Given the description of an element on the screen output the (x, y) to click on. 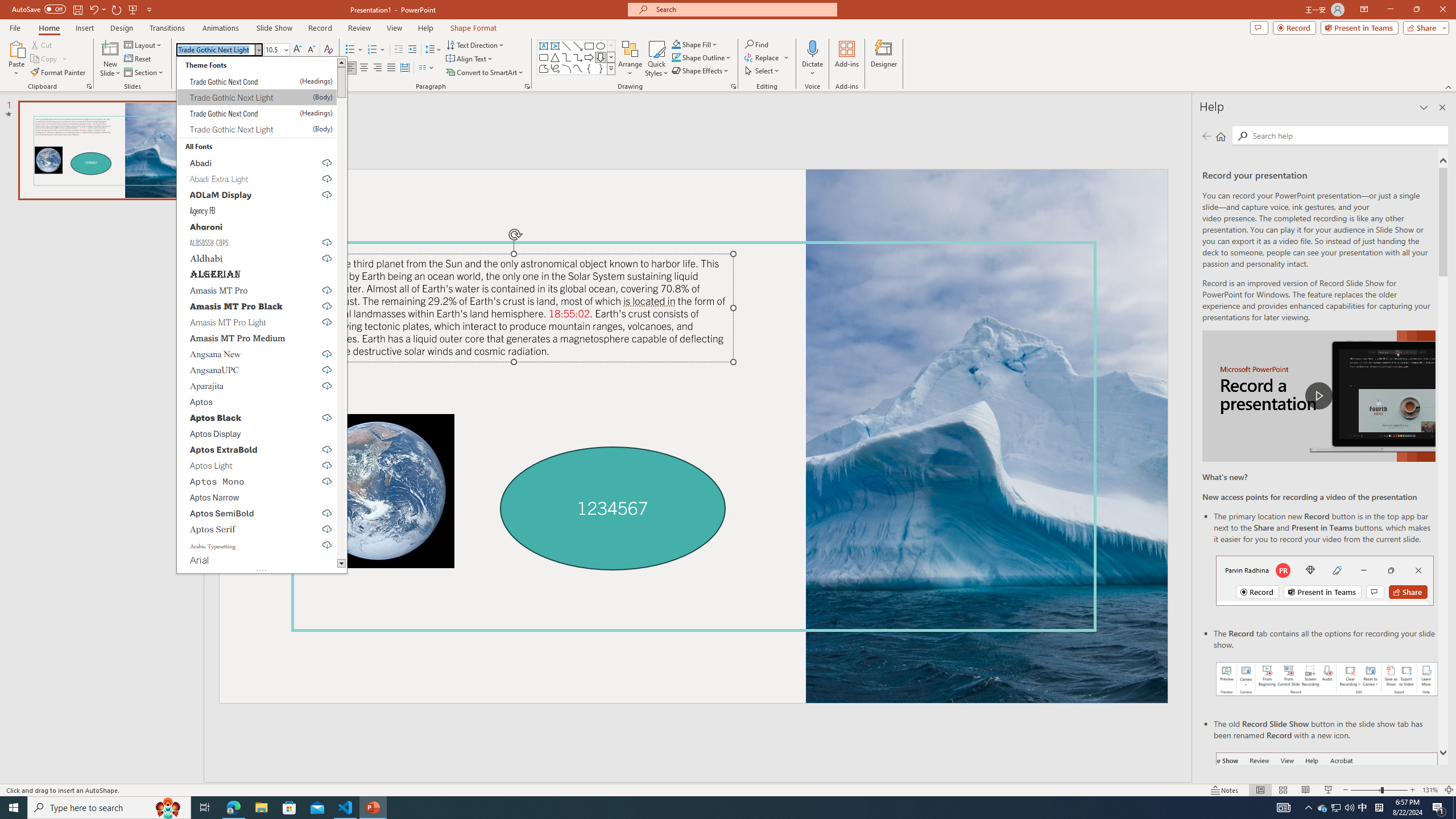
Zoom 131% (1430, 790)
Justify (390, 67)
More Options (812, 68)
Angsana New, select to download (256, 353)
Quick Styles (656, 58)
Collapse the Ribbon (1448, 86)
Agency FB (256, 210)
Text Box (543, 45)
Task Pane Options (1423, 107)
New Slide (110, 58)
Paragraph... (526, 85)
Minimize (1390, 9)
Left Brace (589, 68)
Reset (138, 58)
